Given the description of an element on the screen output the (x, y) to click on. 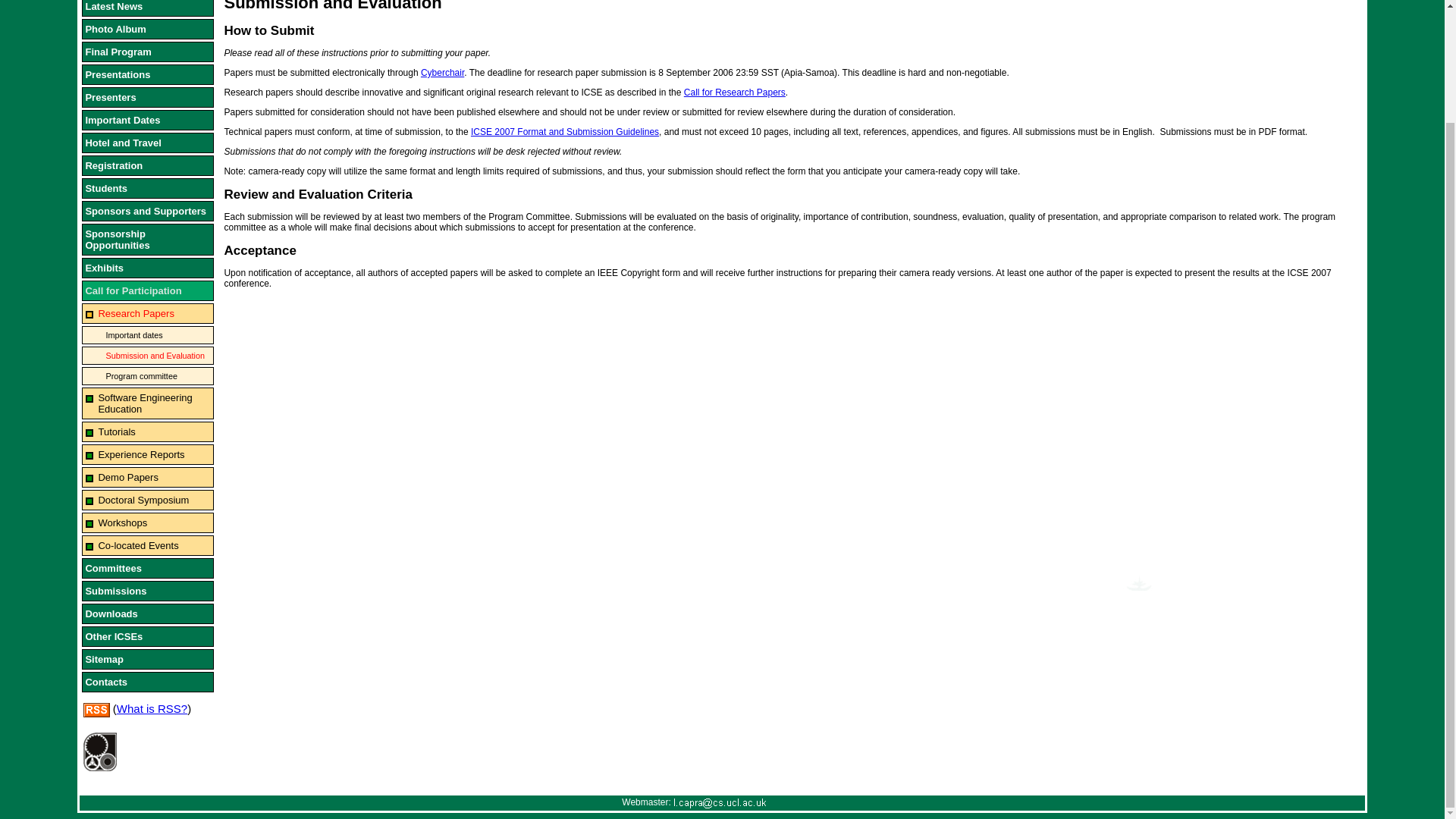
Registration (147, 165)
Doctoral Symposium (147, 499)
Software Engineering Education (147, 403)
Demo Papers (147, 476)
Co-located Events (147, 545)
Sponsors and Supporters (147, 210)
Downloads (147, 613)
Photo Album (147, 28)
Submission and Evaluation (147, 355)
Presenters (147, 97)
Contacts (147, 681)
What is RSS? (151, 707)
Program committee (147, 375)
Research Papers (147, 312)
Important Dates (147, 119)
